Given the description of an element on the screen output the (x, y) to click on. 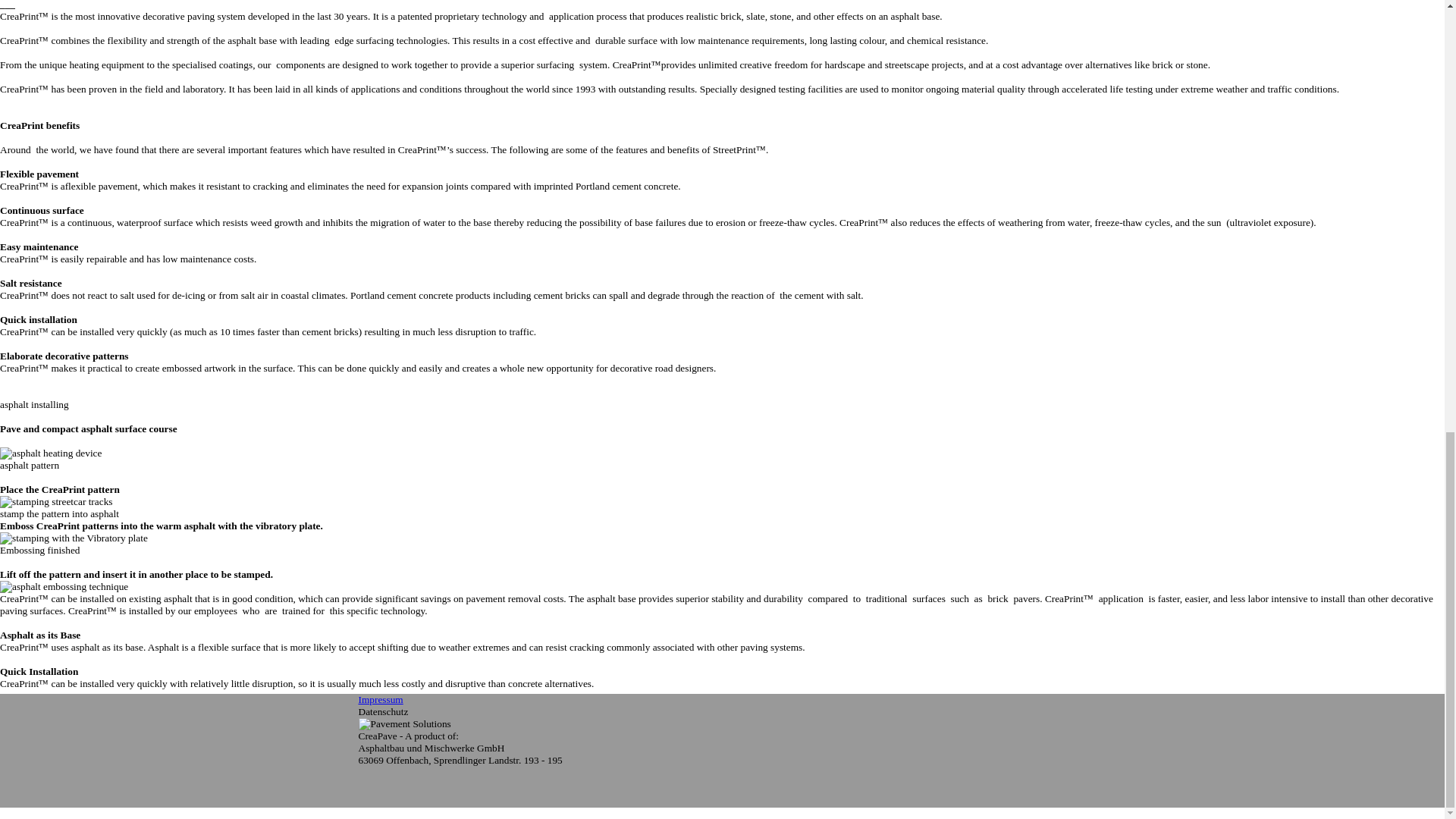
Ronald Mc Donald pattern in asphalt (64, 586)
asphalt stamping (74, 538)
Creapave Logo (403, 724)
asphalt stamping (56, 501)
infrared heater (50, 453)
Impressum (380, 699)
